Given the description of an element on the screen output the (x, y) to click on. 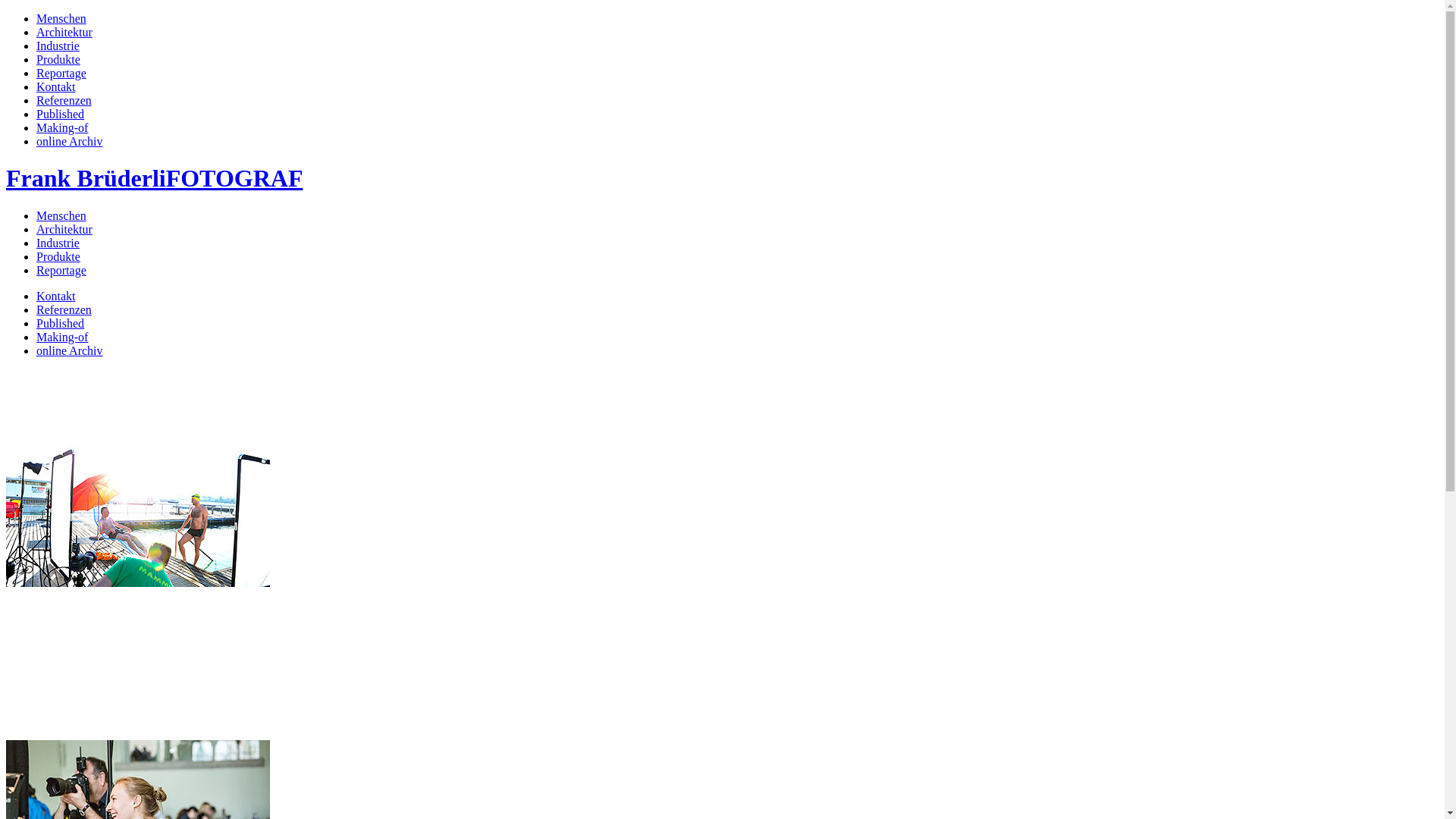
Published Element type: text (60, 322)
Referenzen Element type: text (63, 309)
Industrie Element type: text (57, 242)
Architektur Element type: text (64, 31)
Kontakt Element type: text (55, 295)
Kontakt Element type: text (55, 86)
Making-of Element type: text (61, 336)
online Archiv Element type: text (69, 350)
Making-of Element type: text (61, 127)
Produkte Element type: text (58, 59)
Industrie Element type: text (57, 45)
Produkte Element type: text (58, 256)
Menschen Element type: text (61, 215)
Published Element type: text (60, 113)
Reportage Element type: text (61, 72)
MAKING-OF | SWITCH, Imageplakat. Element type: hover (137, 512)
Architektur Element type: text (64, 228)
Reportage Element type: text (61, 269)
online Archiv Element type: text (69, 140)
Referenzen Element type: text (63, 100)
Menschen Element type: text (61, 18)
